Given the description of an element on the screen output the (x, y) to click on. 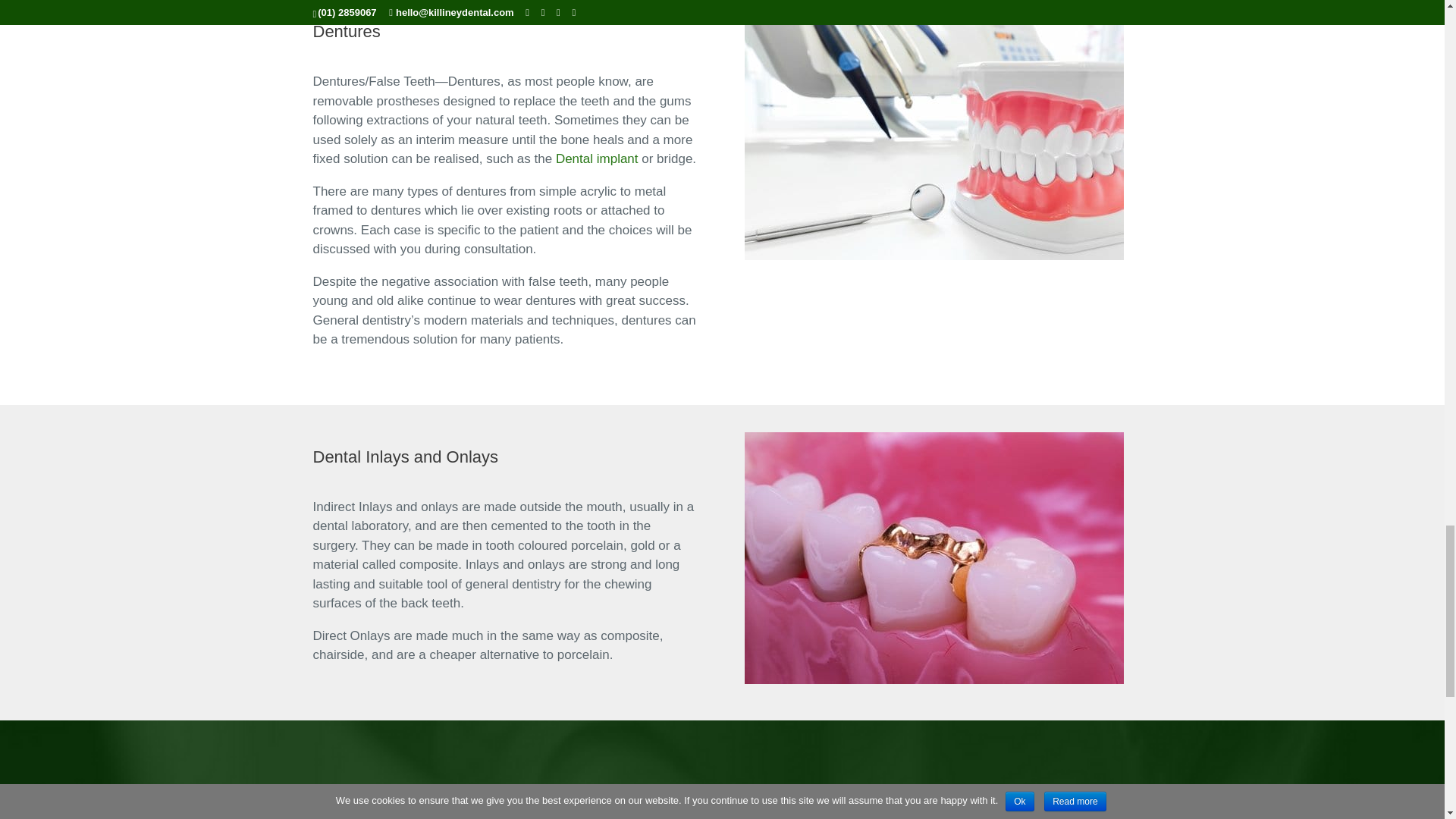
dental inlays and onlays dublin (934, 557)
dentures dublin (934, 133)
